Given the description of an element on the screen output the (x, y) to click on. 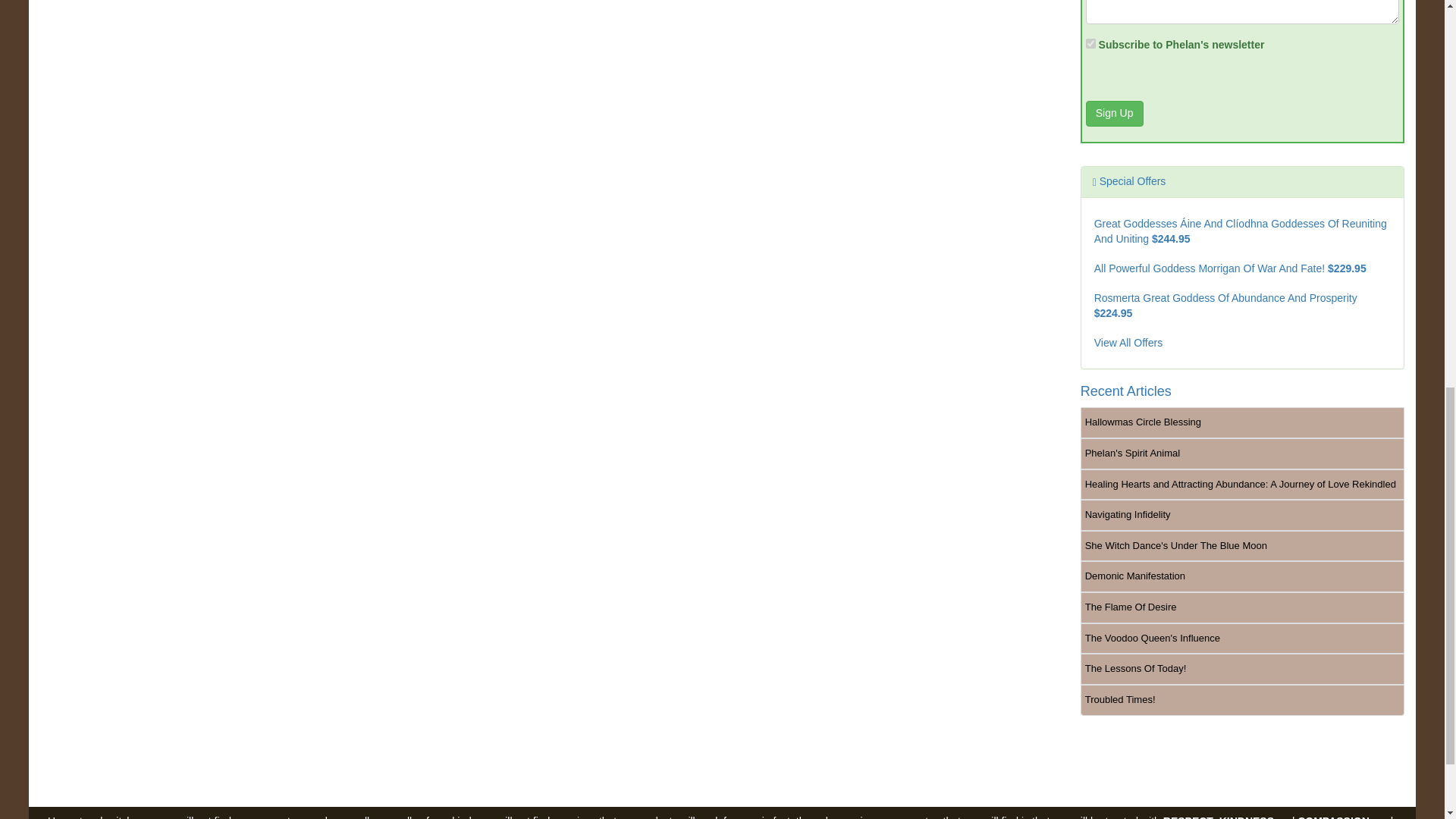
1 (1091, 43)
